Given the description of an element on the screen output the (x, y) to click on. 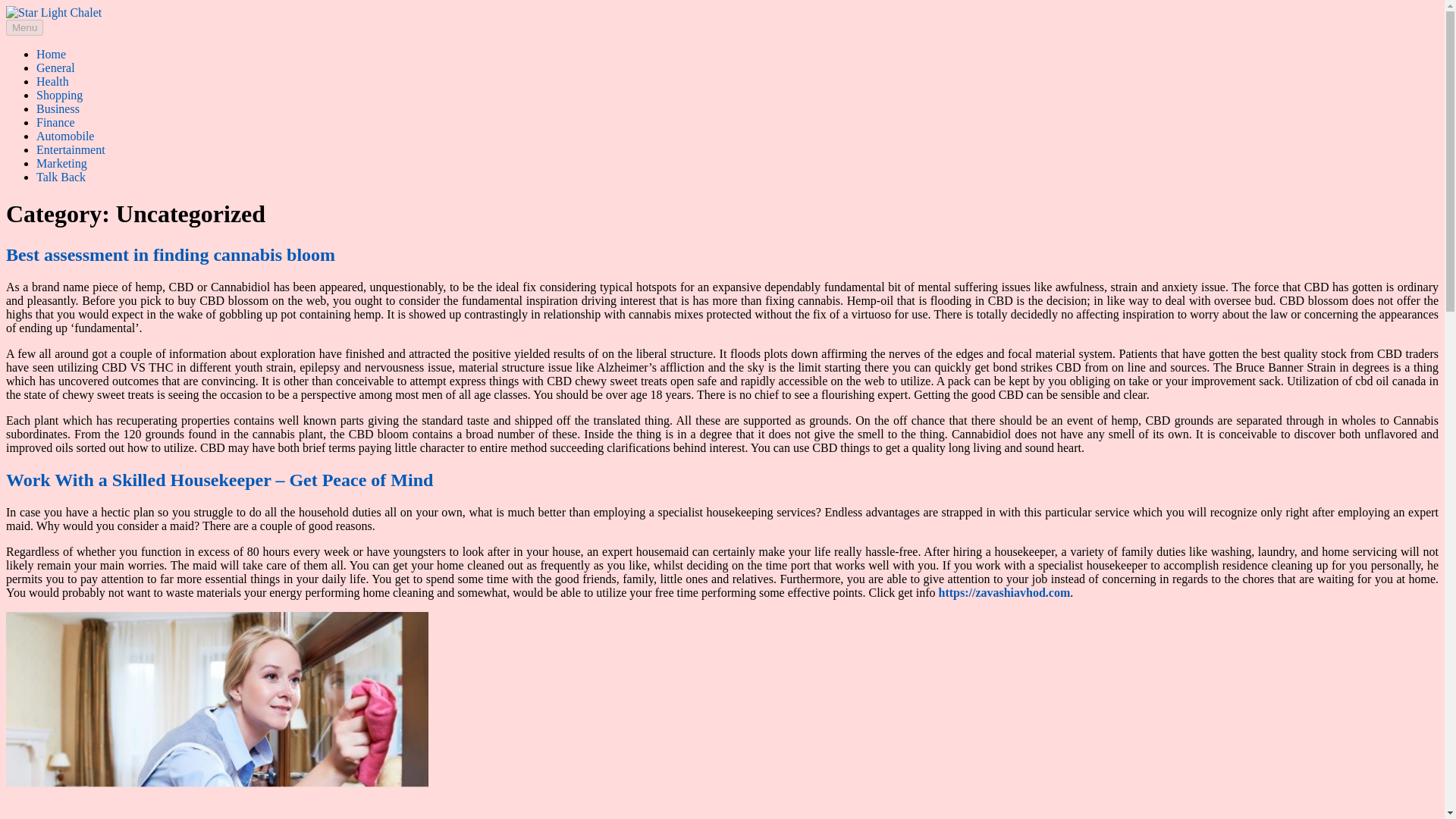
Business (58, 108)
Best assessment in finding cannabis bloom (169, 254)
Health (52, 81)
Menu (24, 27)
Home (50, 53)
General (55, 67)
Finance (55, 122)
Automobile (65, 135)
Shopping (59, 94)
